Given the description of an element on the screen output the (x, y) to click on. 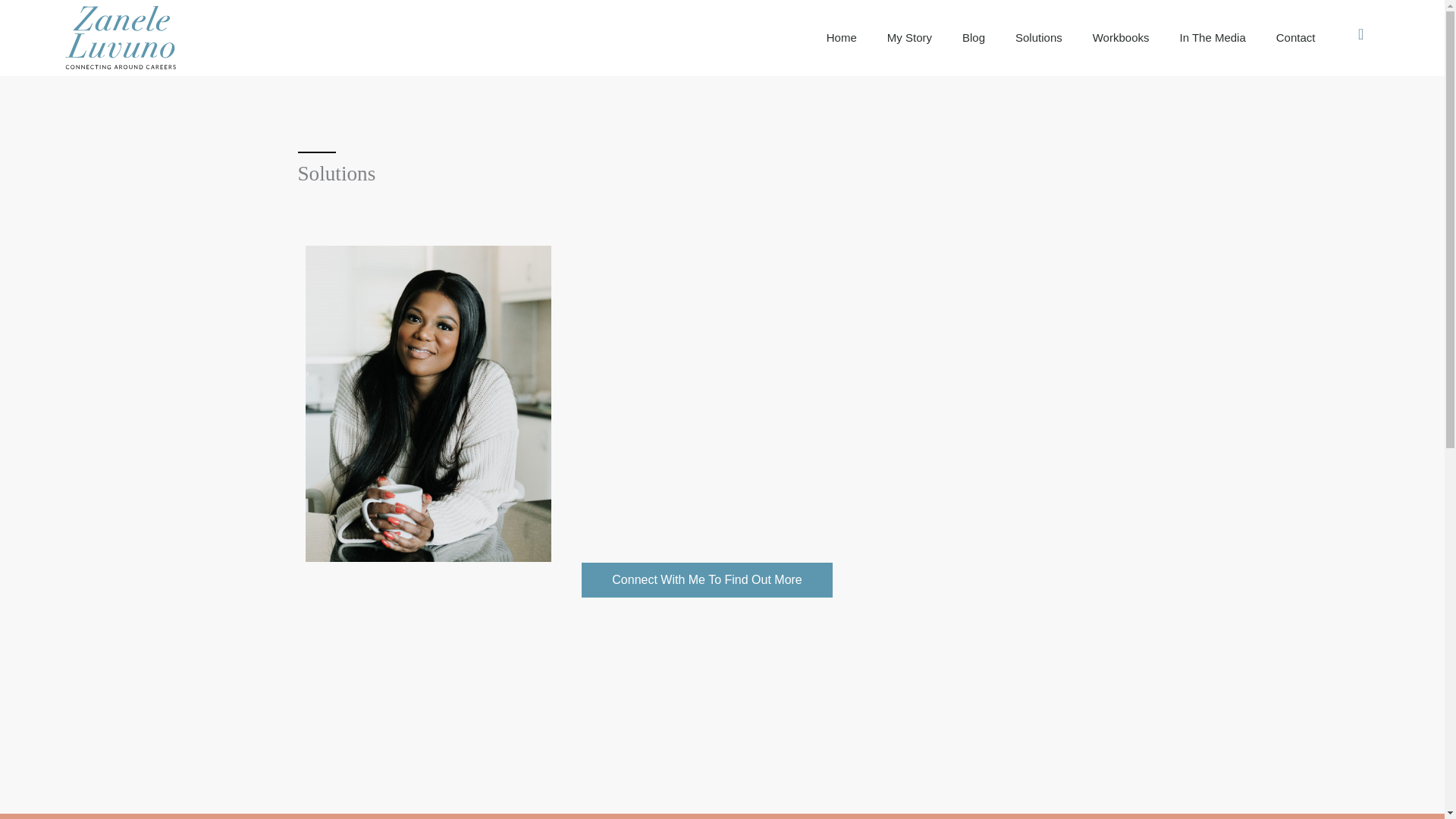
In The Media (1212, 38)
Contact (1295, 38)
My Story (909, 38)
Workbooks (1120, 38)
Solutions (1038, 38)
